Given the description of an element on the screen output the (x, y) to click on. 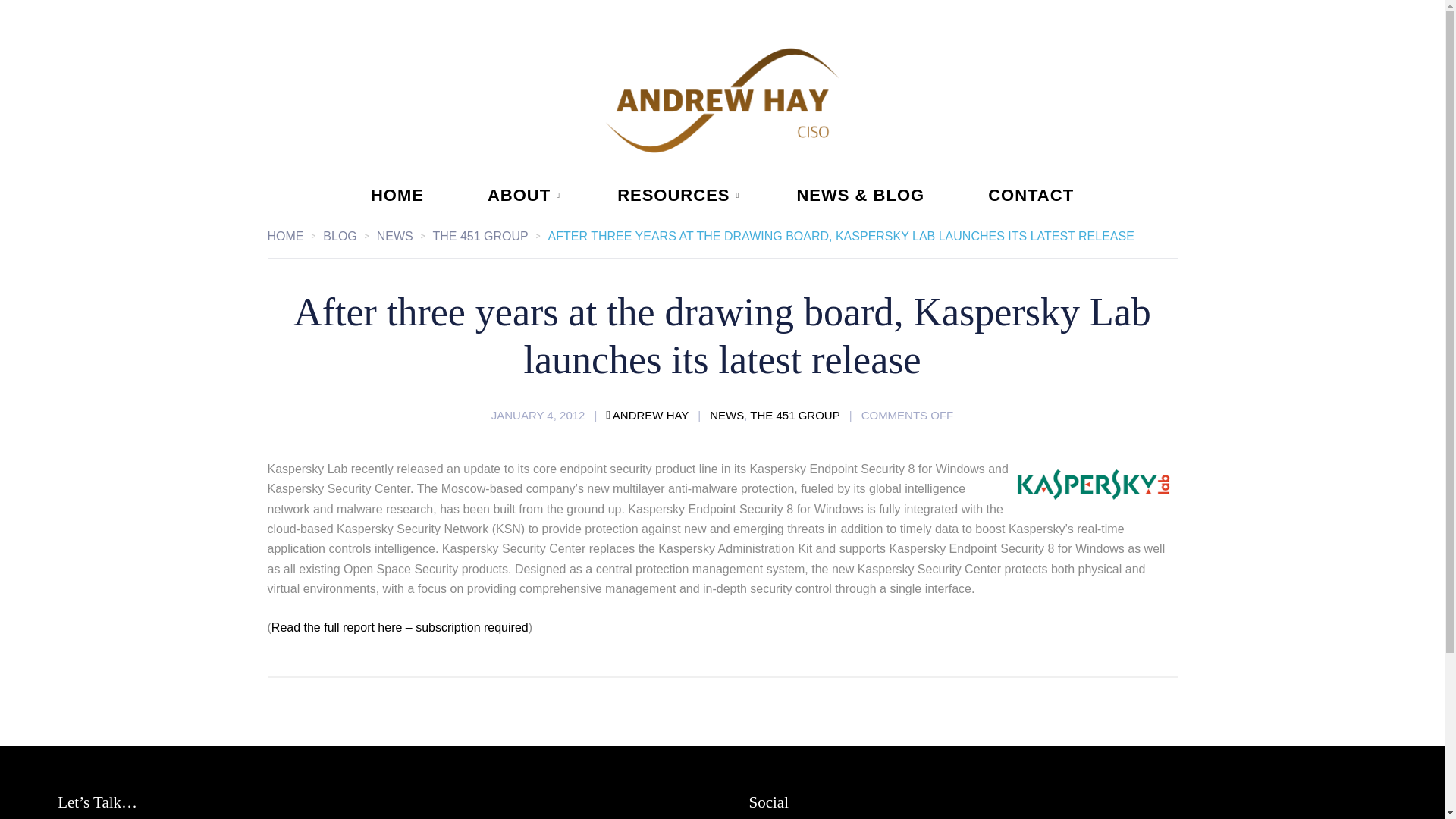
Andrew Hay (721, 100)
BLOG (349, 236)
ABOUT (520, 195)
THE 451 GROUP (794, 414)
ANDREW HAY (646, 414)
THE 451 GROUP (489, 236)
CONTACT (1030, 195)
HOME (397, 195)
NEWS (727, 414)
Go to Blog. (349, 236)
NEWS (404, 236)
RESOURCES (674, 195)
Go to the The 451 Group Category archives. (489, 236)
HOME (294, 236)
Go to the News Category archives. (404, 236)
